Given the description of an element on the screen output the (x, y) to click on. 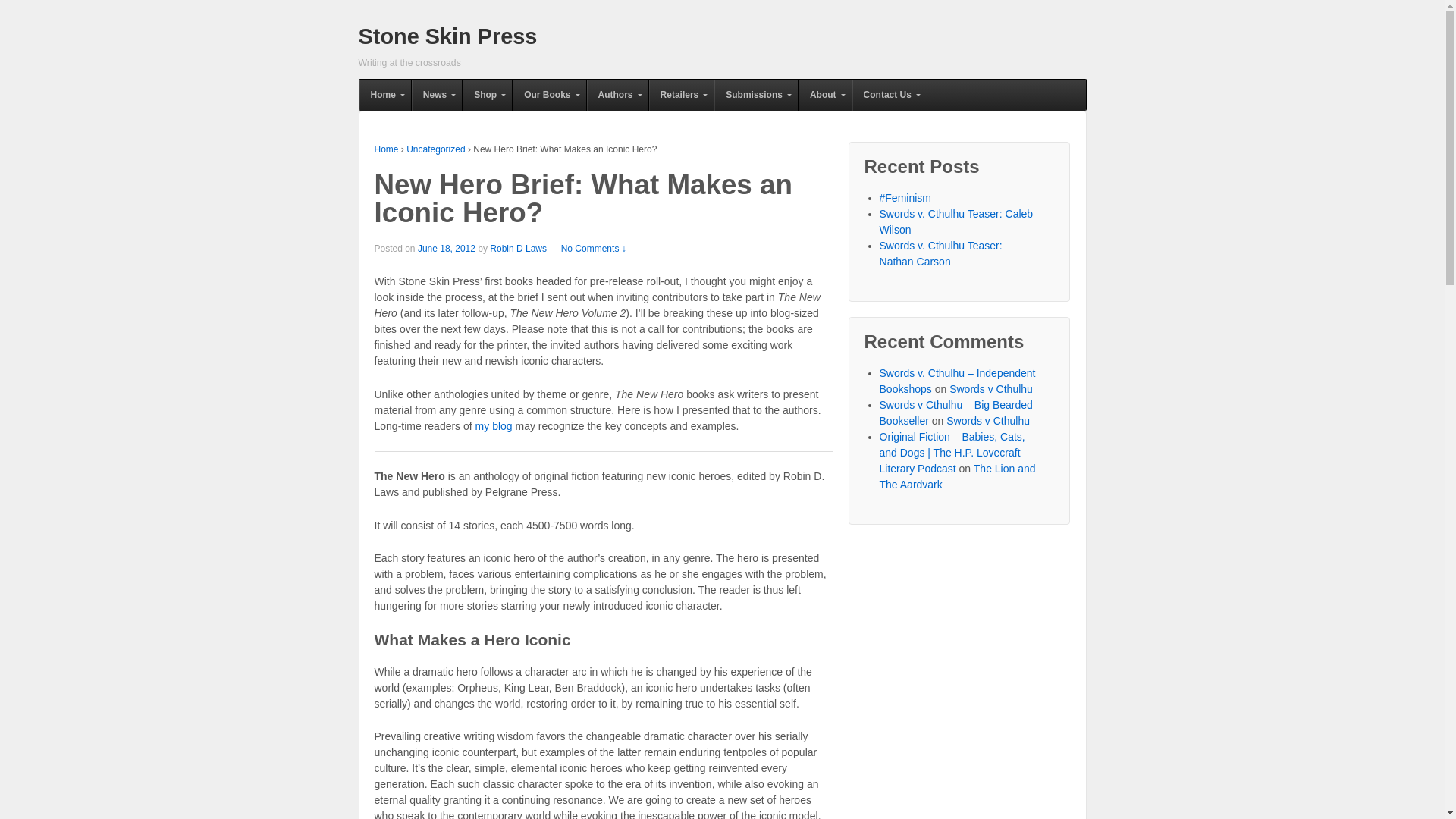
Home (384, 94)
Authors (616, 94)
News (435, 94)
Shop (486, 94)
View all posts by Robin D Laws (518, 248)
Stone Skin Press (447, 36)
Our Books (548, 94)
New Hero Brief: What Makes an Iconic Hero? (446, 248)
Stone Skin Press (447, 36)
